Given the description of an element on the screen output the (x, y) to click on. 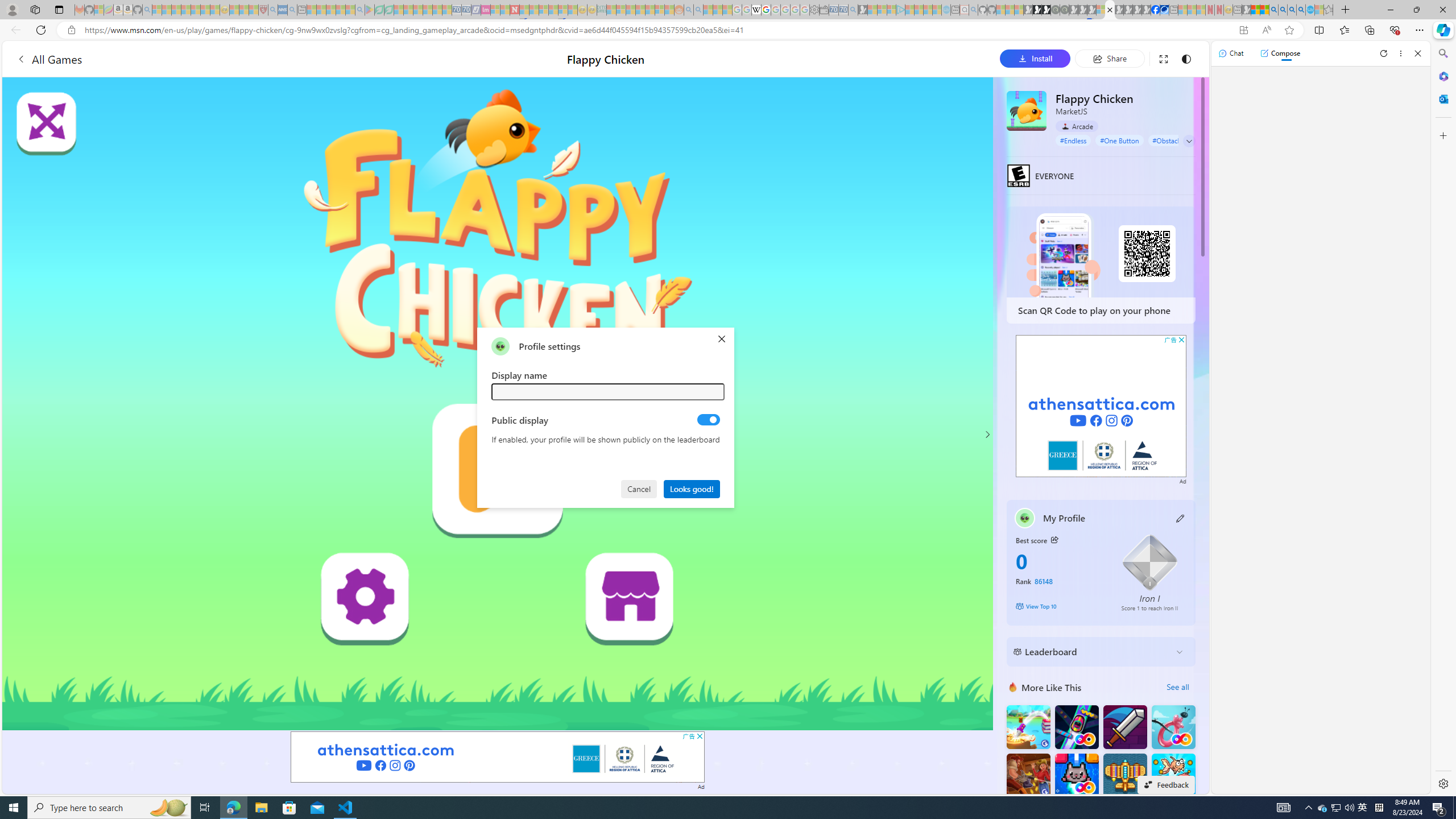
Dungeon Master Knight (1124, 726)
Arcade (1076, 125)
Class: text-input (608, 391)
Full screen (1163, 58)
